Given the description of an element on the screen output the (x, y) to click on. 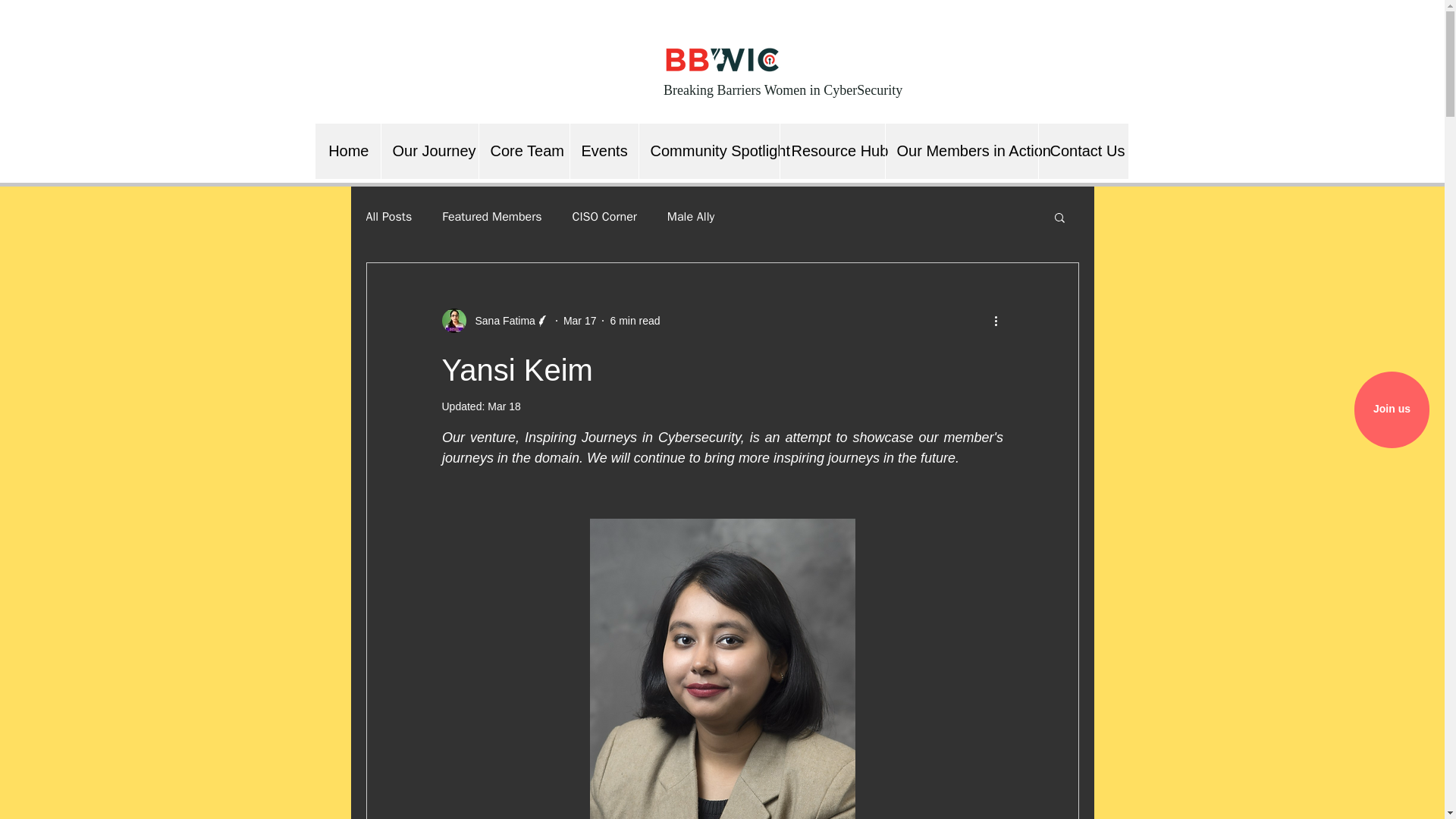
Home (347, 151)
Contact Us (1081, 151)
Sana Fatima (499, 320)
Resource Hub (831, 151)
CISO Corner (604, 217)
Our Journey (429, 151)
Events (603, 151)
6 min read (634, 319)
Community Spotlight (708, 151)
Mar 18 (504, 406)
Our Members in Action (959, 151)
All Posts (388, 217)
Male Ally (690, 217)
Breaking Barriers Women in CyberSecurity (782, 89)
Join us (1391, 409)
